Given the description of an element on the screen output the (x, y) to click on. 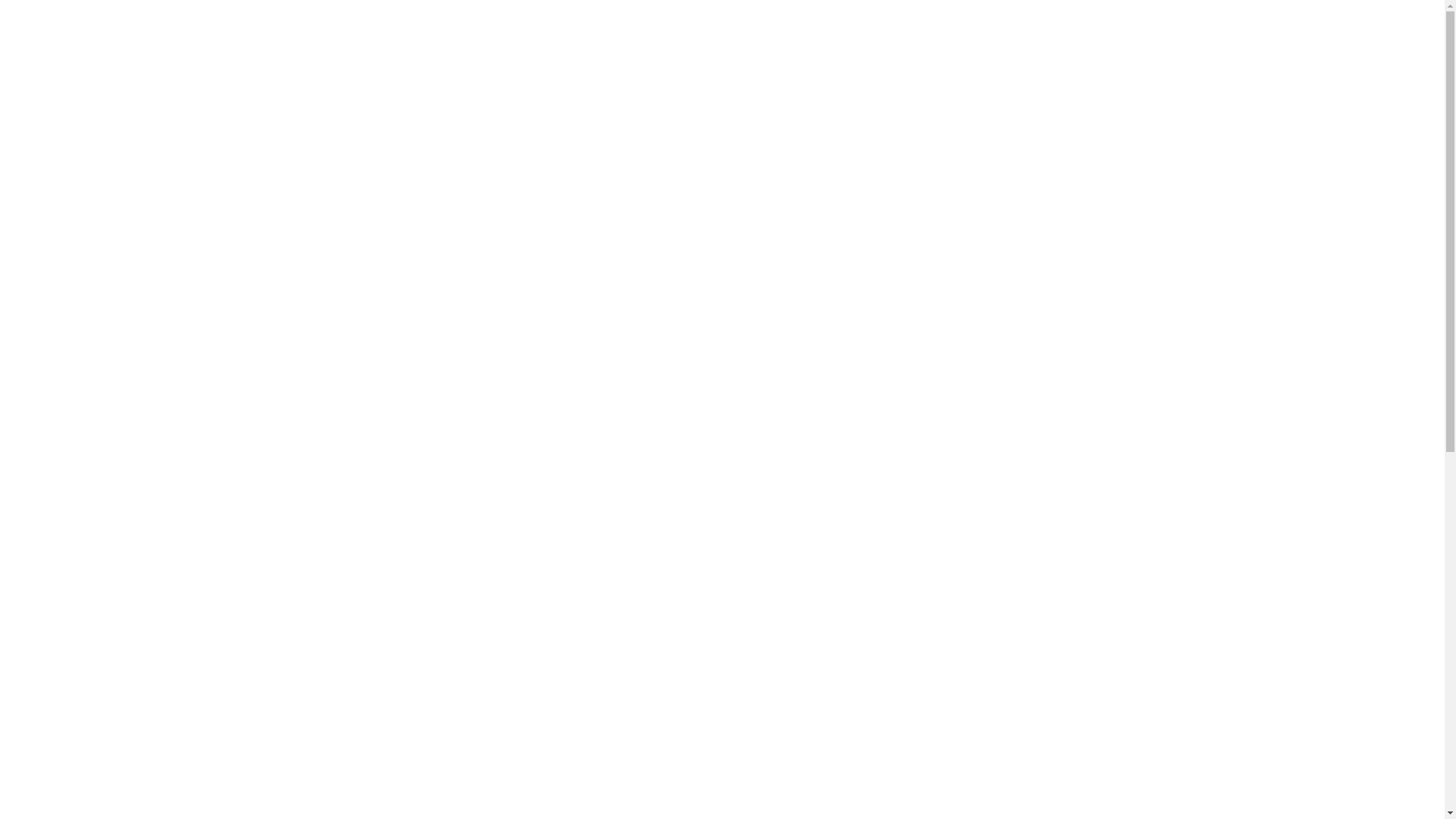
HOMEPAGE Element type: text (862, 611)
Home Element type: text (665, 191)
